Given the description of an element on the screen output the (x, y) to click on. 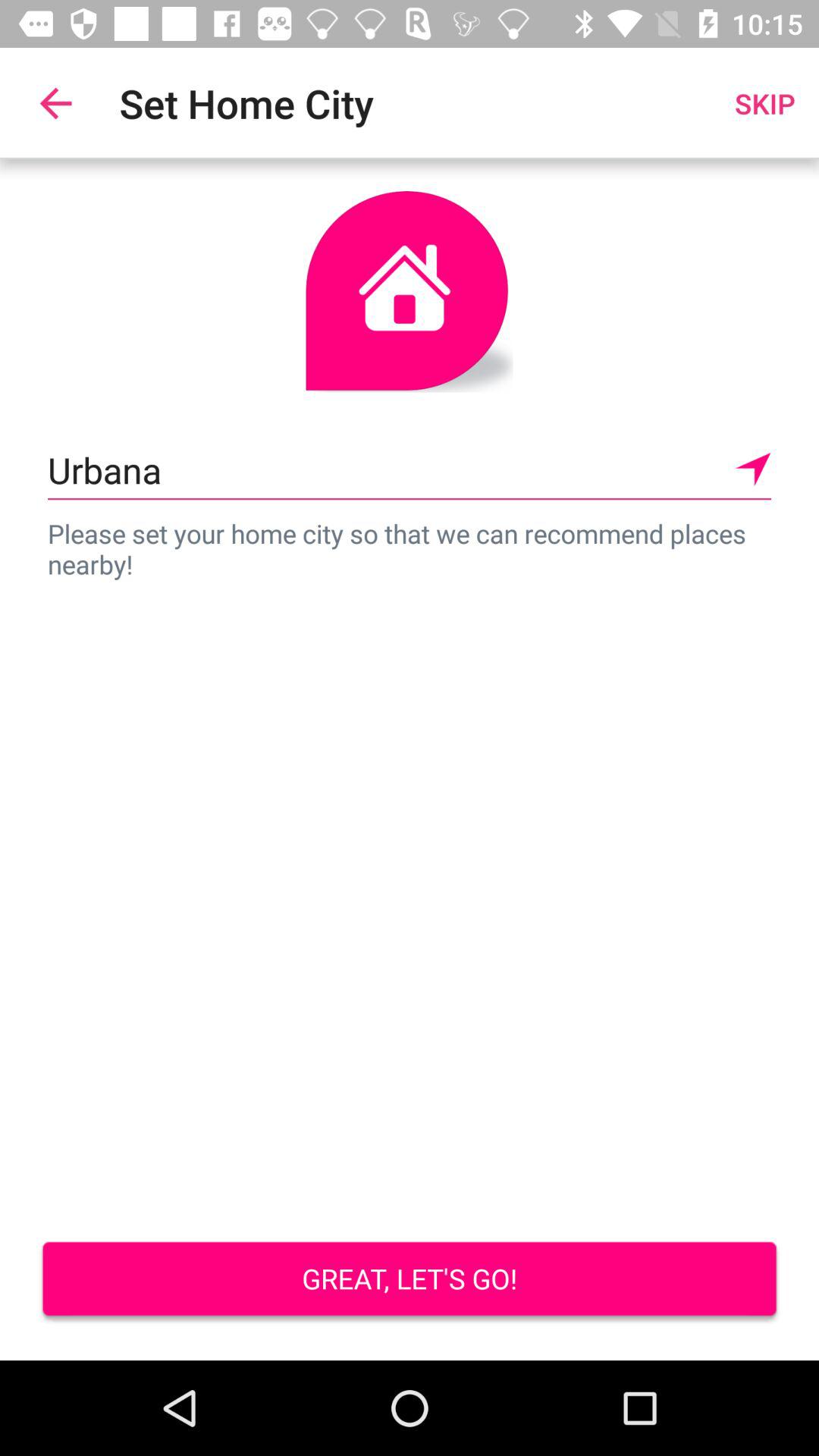
turn off icon next to set home city app (55, 103)
